Given the description of an element on the screen output the (x, y) to click on. 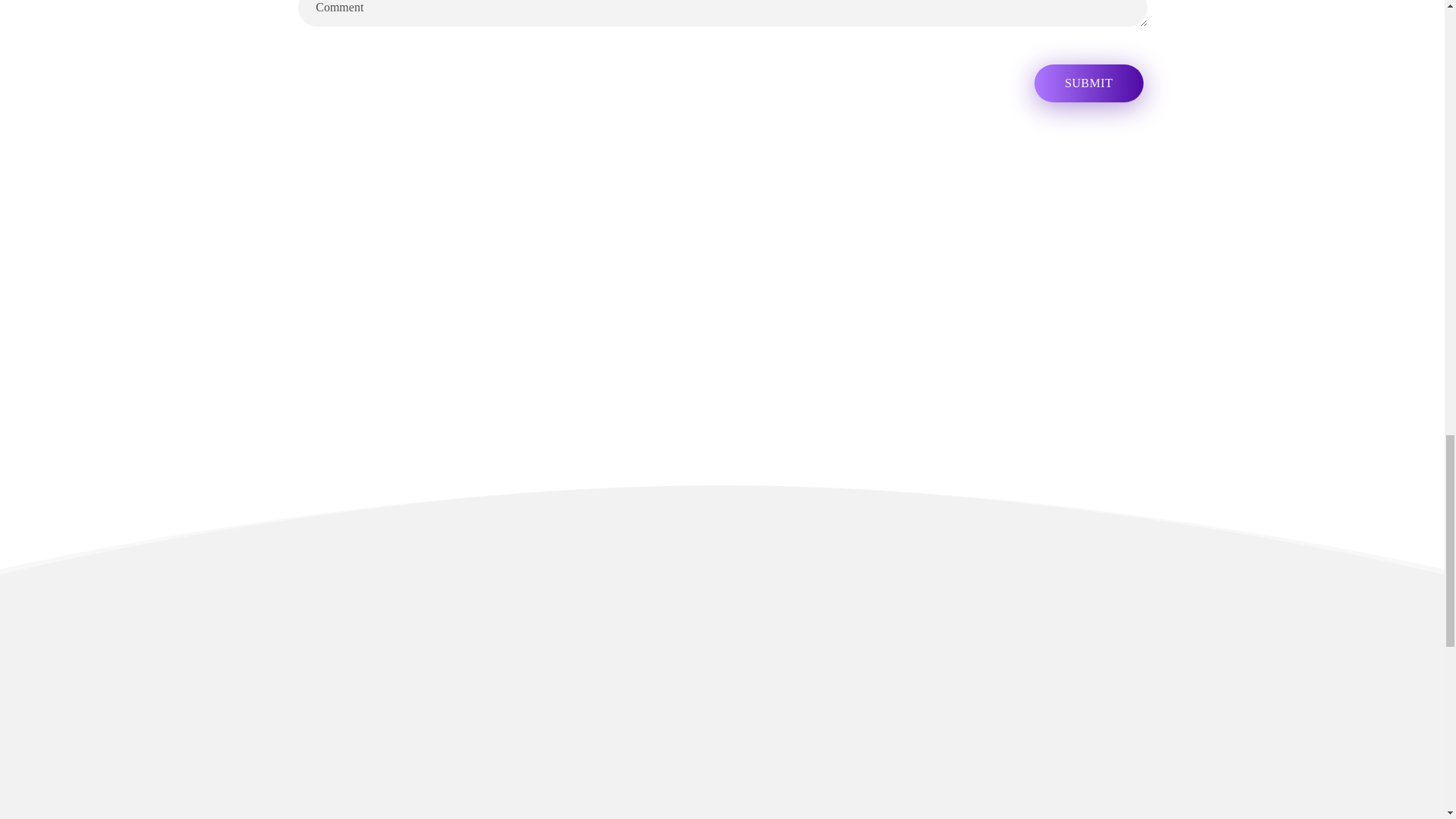
Submit (1087, 82)
Submit (1087, 82)
